Given the description of an element on the screen output the (x, y) to click on. 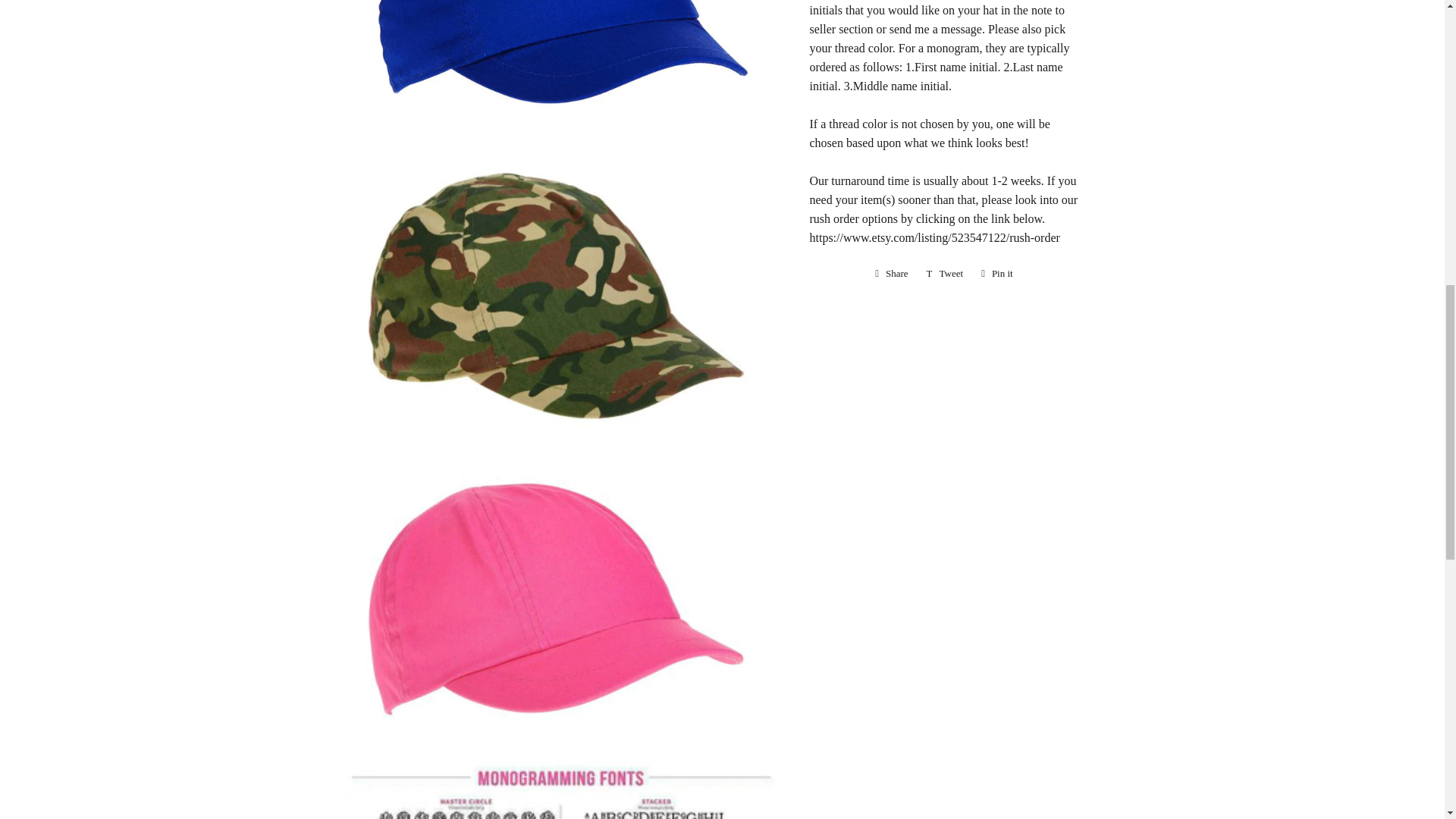
Share on Facebook (891, 273)
Pin on Pinterest (891, 273)
Tweet on Twitter (944, 273)
